Given the description of an element on the screen output the (x, y) to click on. 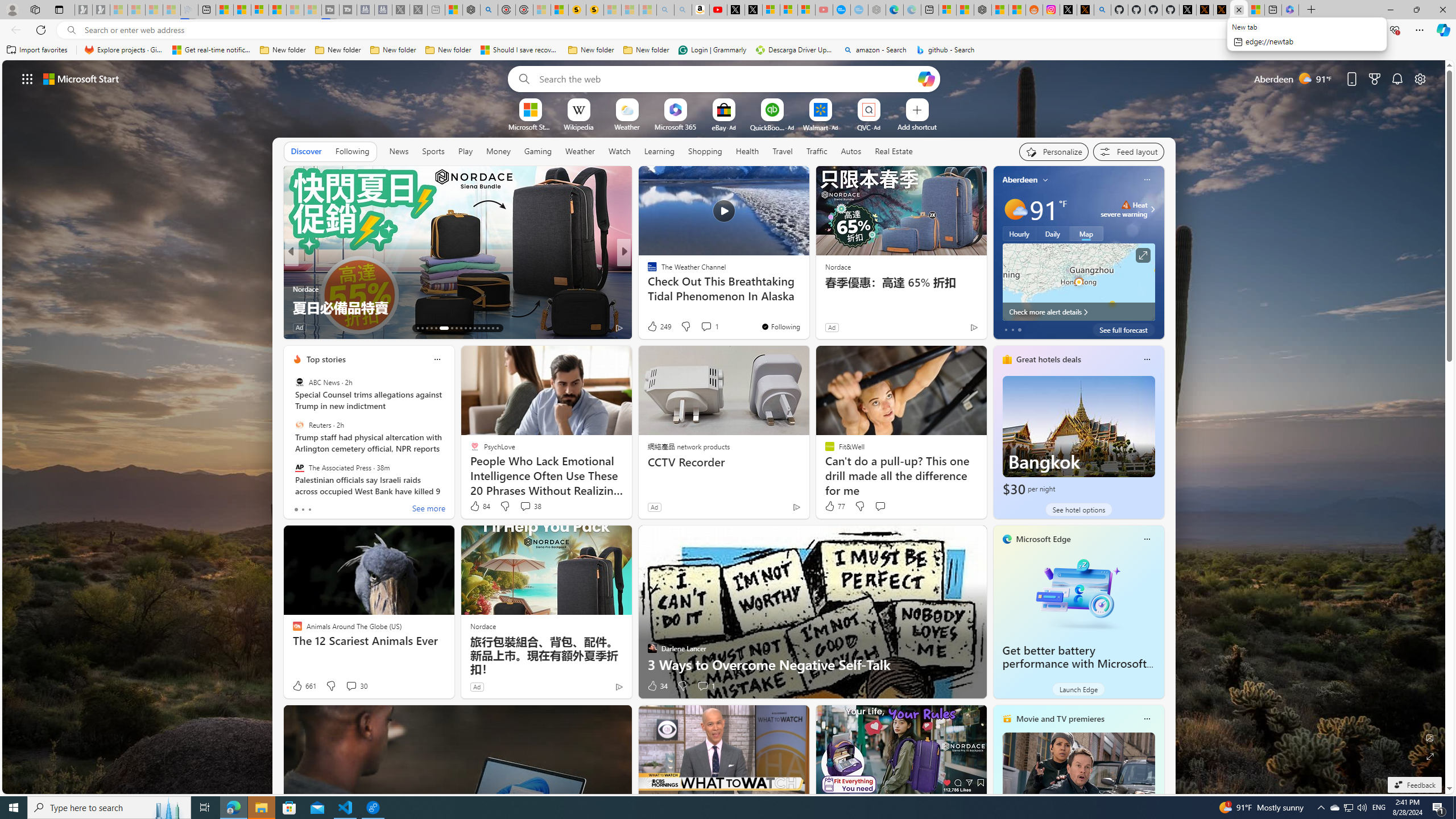
See full forecast (1123, 329)
New tab - Sleeping (435, 9)
Microsoft Start Sports (529, 126)
AutomationID: tab-17 (435, 328)
Opinion: Op-Ed and Commentary - USA TODAY (842, 9)
Collections (1369, 29)
CNBC (296, 270)
Watch (619, 151)
AutomationID: tab-13 (417, 328)
Open Copilot (925, 78)
tab-0 (295, 509)
View comments 26 Comment (6, 327)
606 Like (654, 327)
